Given the description of an element on the screen output the (x, y) to click on. 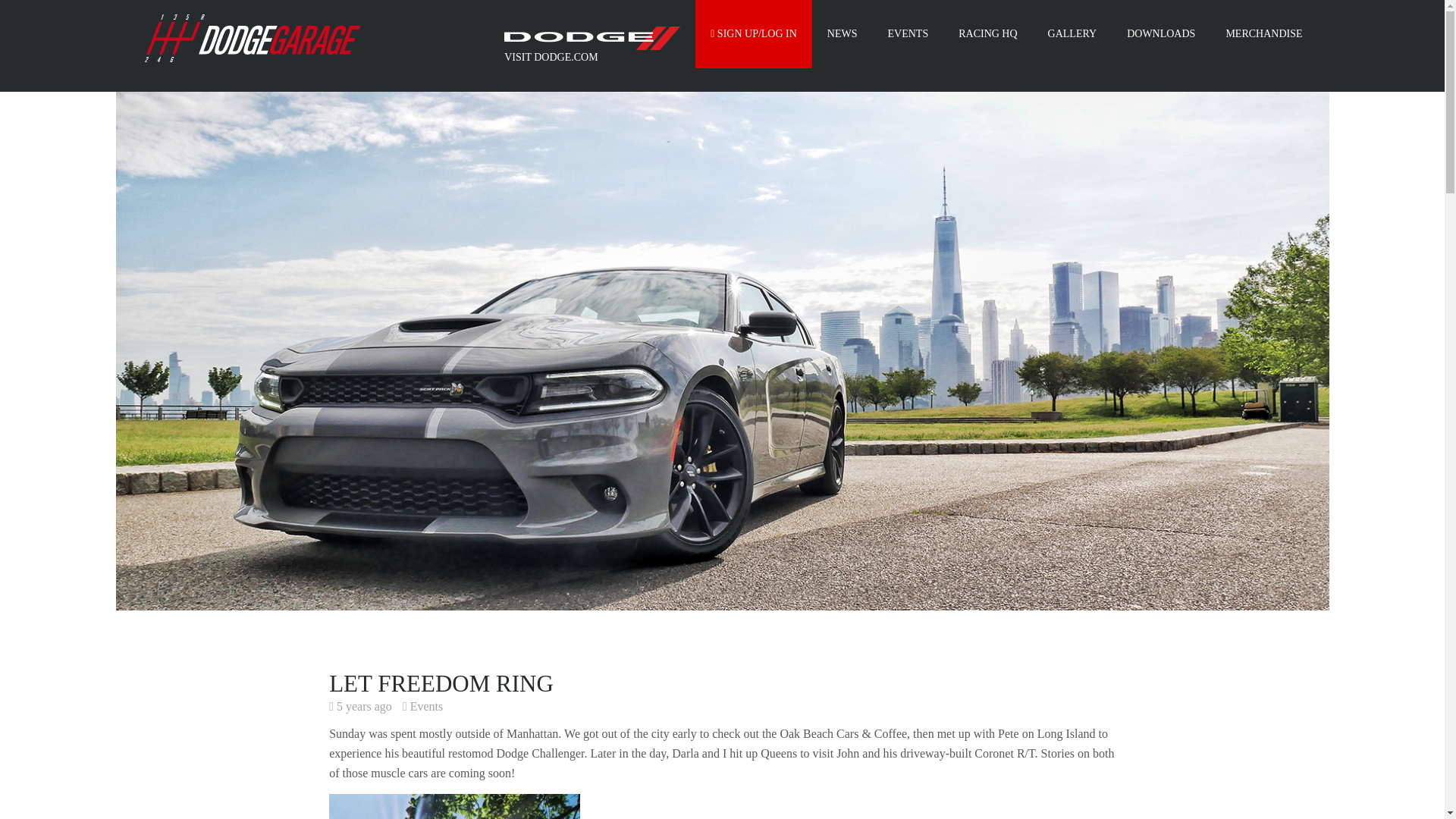
DOWNLOADS (1160, 33)
VISIT DODGE.COM (592, 45)
NEWS (842, 33)
EVENTS (907, 33)
MERCHANDISE (1263, 33)
RACING HQ (987, 33)
GALLERY (1072, 33)
